Given the description of an element on the screen output the (x, y) to click on. 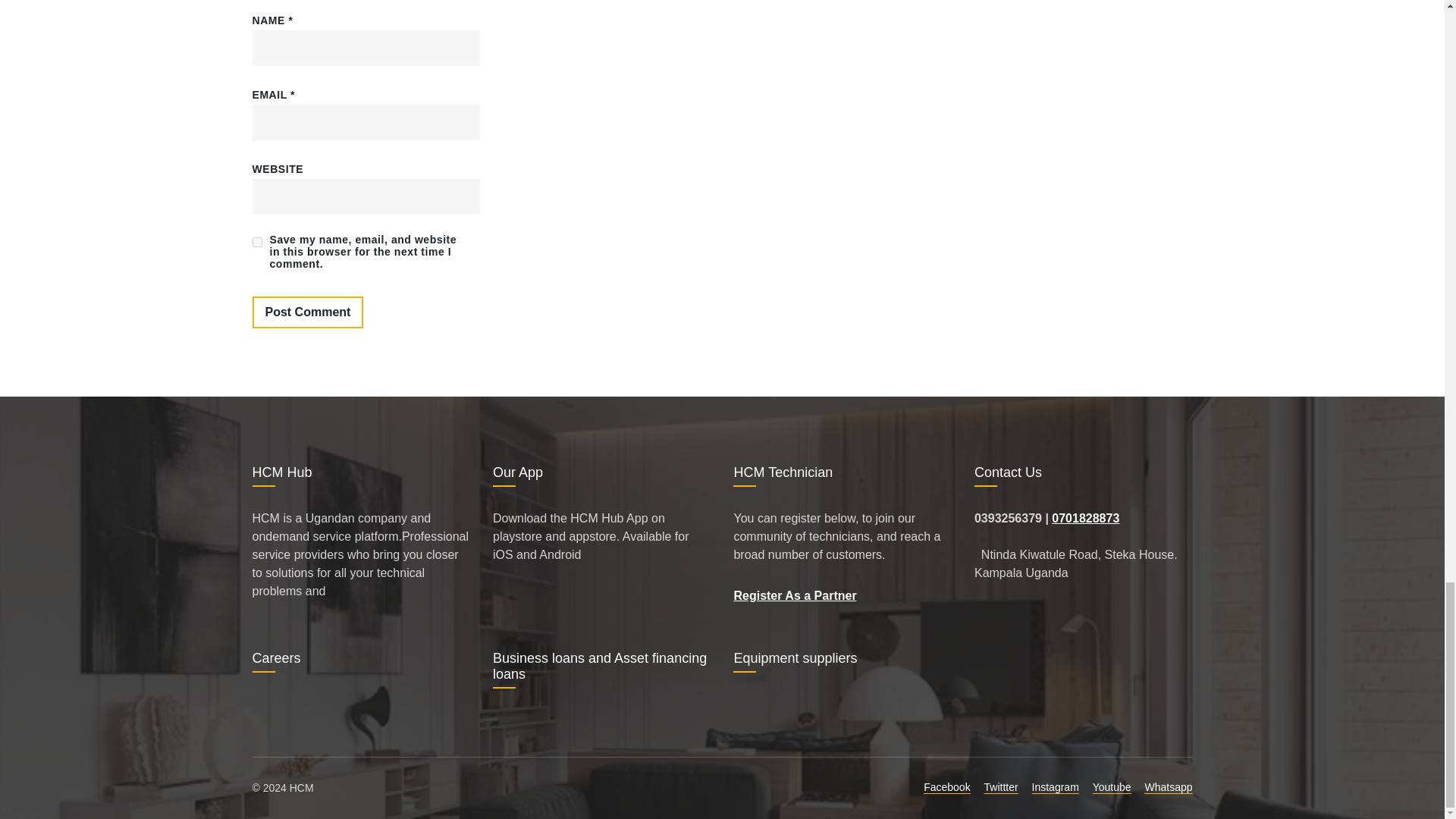
Post Comment (306, 312)
Post Comment (306, 312)
yes (256, 242)
